Given the description of an element on the screen output the (x, y) to click on. 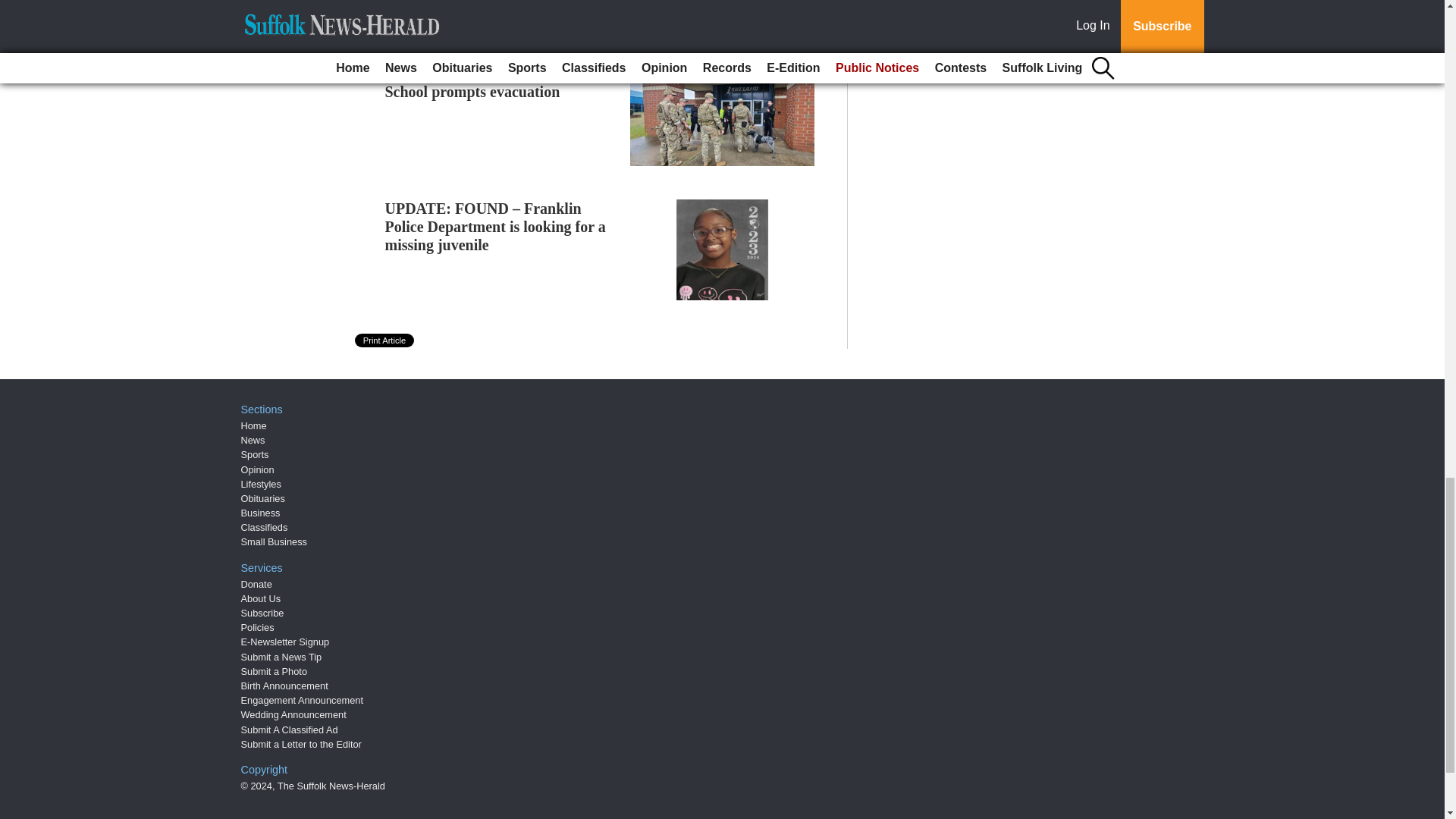
Obituaries (263, 498)
Safety threat at Lakeland High School prompts evacuation (485, 82)
Classifieds (264, 527)
News (252, 439)
Sports (255, 454)
Opinion (258, 469)
Lifestyles (261, 483)
Small Business (274, 541)
Safety threat at Lakeland High School prompts evacuation (485, 82)
Home (253, 425)
Business (261, 512)
Print Article (384, 340)
